Given the description of an element on the screen output the (x, y) to click on. 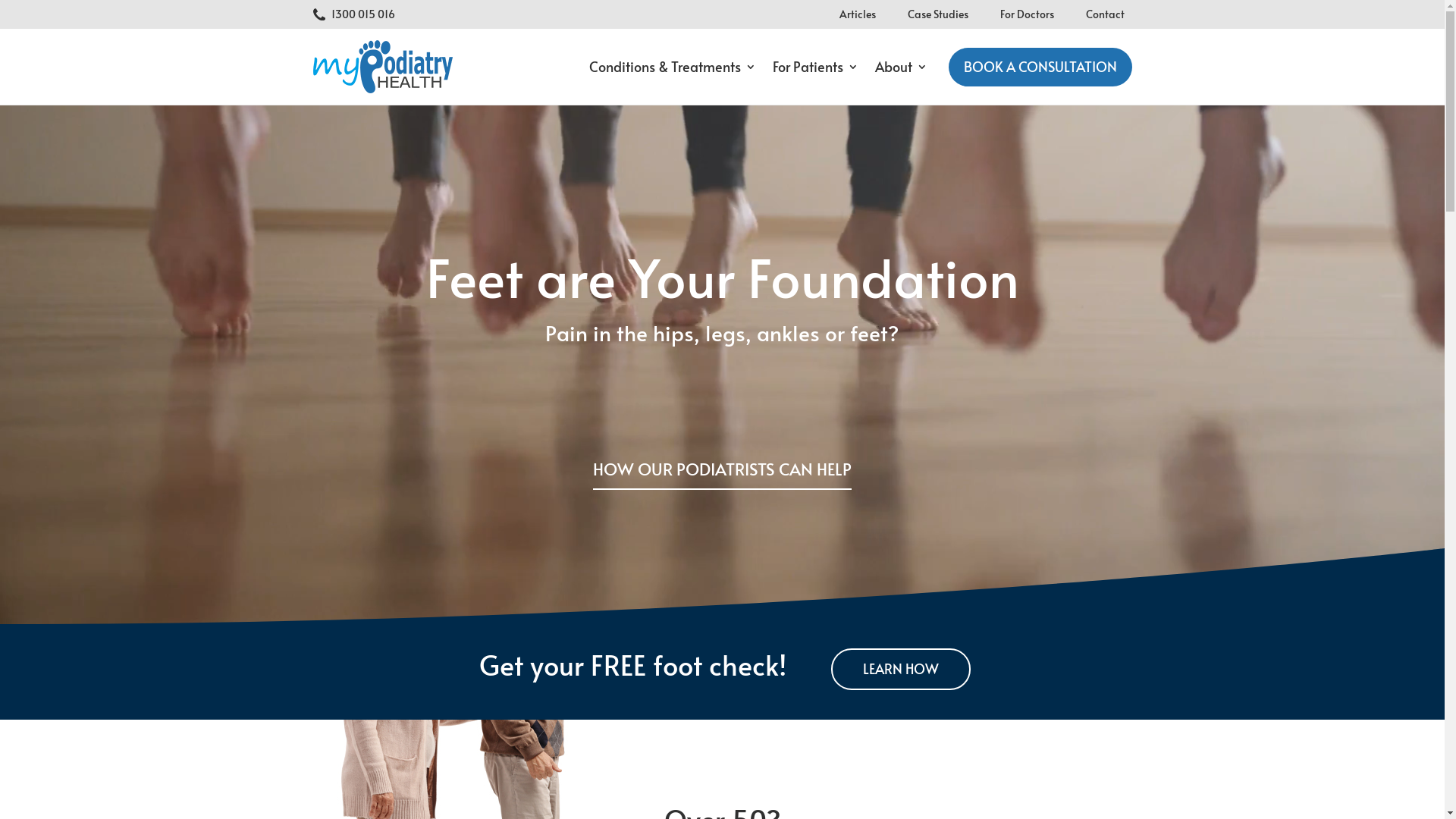
Contact Element type: text (1105, 14)
Articles Element type: text (856, 14)
LEARN HOW Element type: text (900, 669)
1300 015 016 Element type: text (362, 13)
Conditions & Treatments Element type: text (671, 66)
HOW OUR PODIATRISTS CAN HELP Element type: text (722, 472)
For Patients Element type: text (814, 66)
BOOK A CONSULTATION Element type: text (1039, 66)
About Element type: text (901, 66)
For Doctors Element type: text (1025, 14)
Case Studies Element type: text (937, 14)
